Given the description of an element on the screen output the (x, y) to click on. 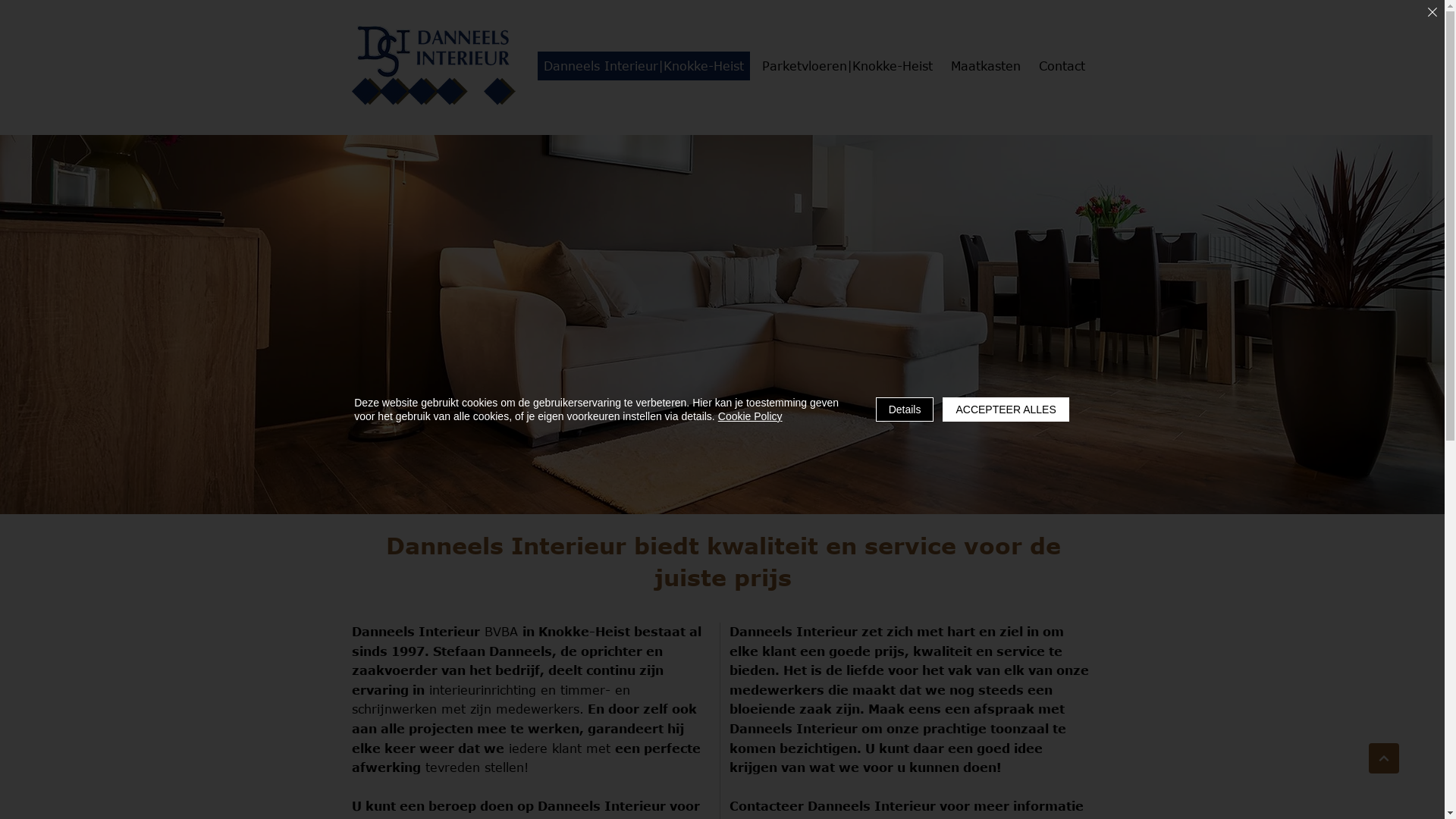
ACCEPTEER ALLES Element type: text (1005, 409)
Contact Element type: text (1061, 65)
Maatkasten Element type: text (985, 65)
Danneels Interieur|Knokke-Heist Element type: text (642, 65)
Cookie Policy Element type: text (750, 416)
Details Element type: text (904, 409)
Parketvloeren|Knokke-Heist Element type: text (846, 65)
